Given the description of an element on the screen output the (x, y) to click on. 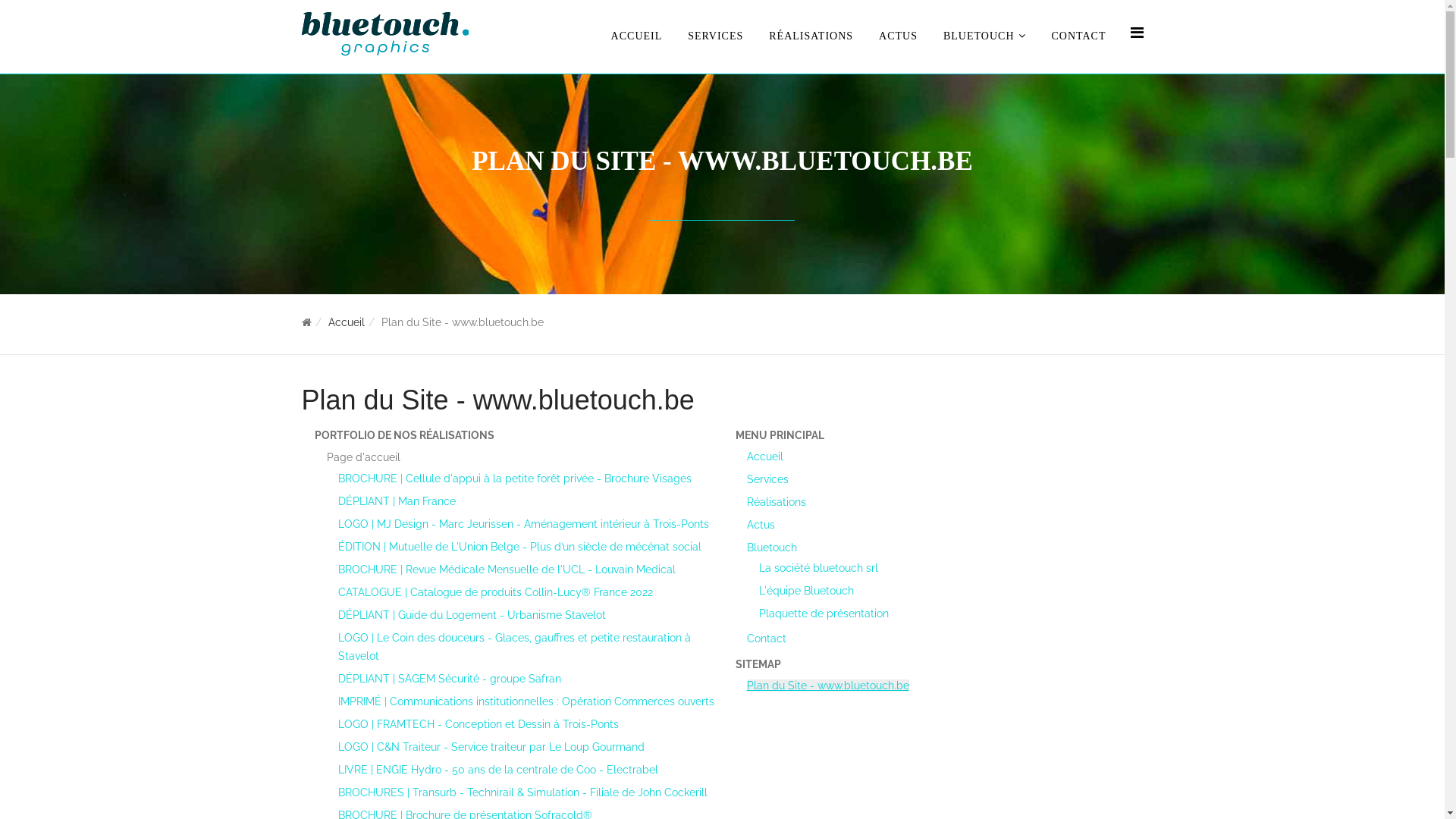
BLUETOUCH Element type: text (984, 36)
Plan du Site - www.bluetouch.be Element type: text (827, 685)
Services Element type: text (766, 479)
Accueil Element type: text (345, 322)
LOGO | C&N Traiteur - Service traiteur par Le Loup Gourmand Element type: text (491, 746)
Bluetouch Element type: text (771, 547)
CONTACT Element type: text (1078, 36)
Contact Element type: text (765, 638)
ACCUEIL Element type: text (636, 36)
Accueil Element type: text (764, 456)
Actus Element type: text (760, 524)
SERVICES Element type: text (715, 36)
ACTUS Element type: text (898, 36)
